Given the description of an element on the screen output the (x, y) to click on. 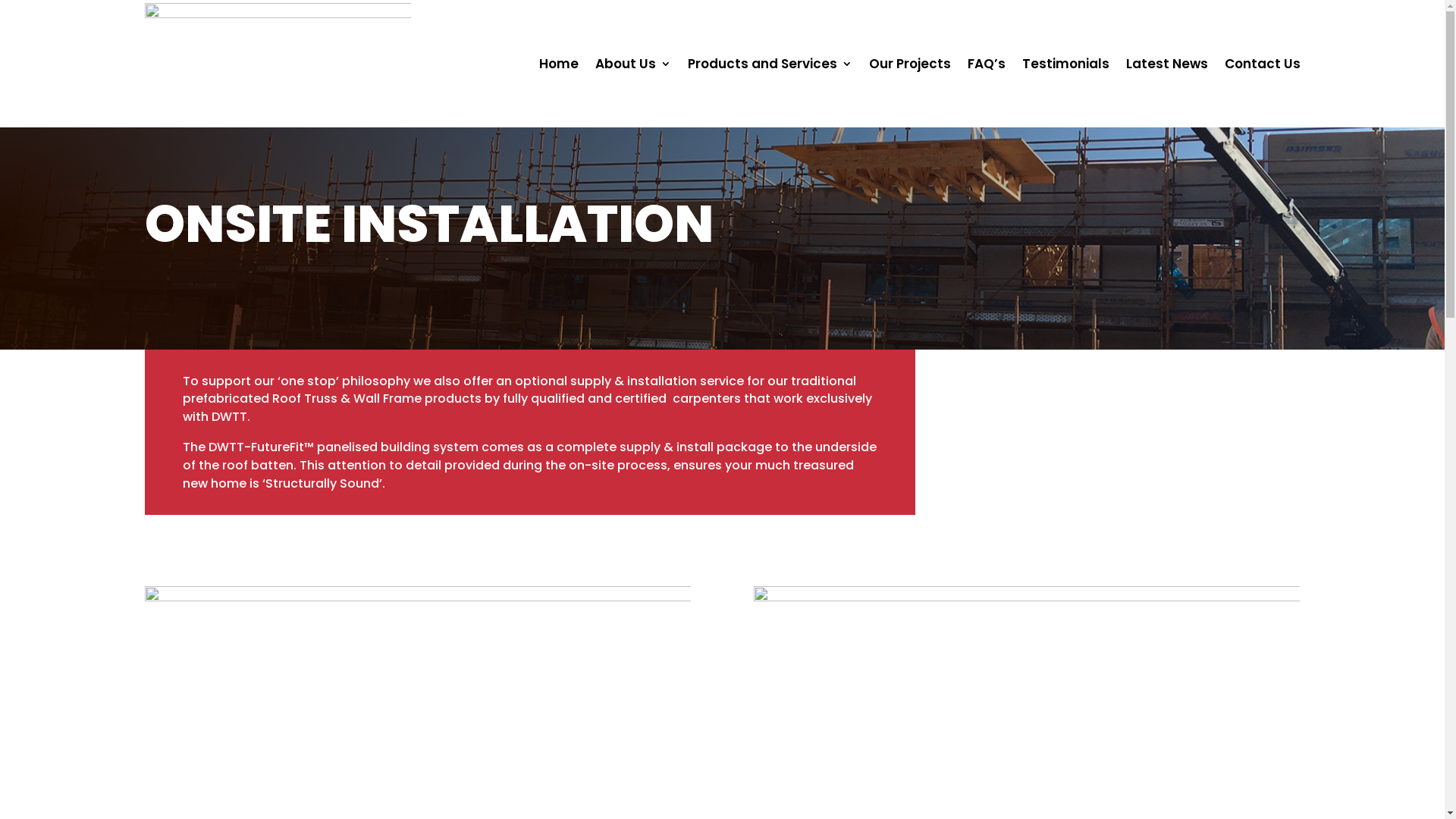
About Us Element type: text (632, 63)
Testimonials Element type: text (1065, 63)
Products and Services Element type: text (769, 63)
Latest News Element type: text (1166, 63)
Home Element type: text (557, 63)
Our Projects Element type: text (909, 63)
Contact Us Element type: text (1261, 63)
